Given the description of an element on the screen output the (x, y) to click on. 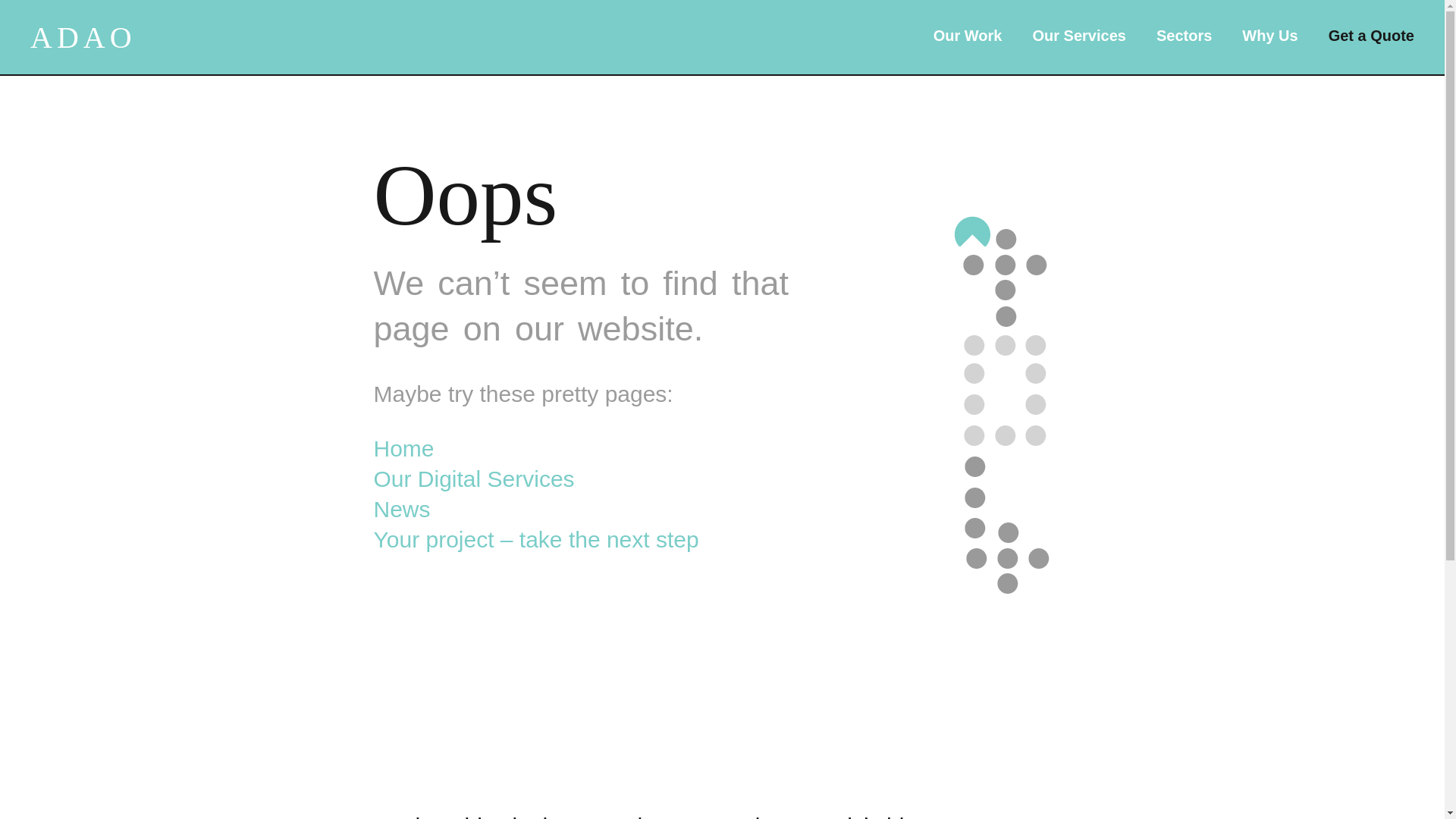
Our Services (1078, 35)
Our Digital Services (472, 478)
Sectors (1183, 35)
ADAO (83, 37)
ADAO (83, 37)
Why Us (1269, 35)
Our Work (968, 35)
Home (402, 448)
News (400, 508)
Get a Quote (1370, 35)
